Given the description of an element on the screen output the (x, y) to click on. 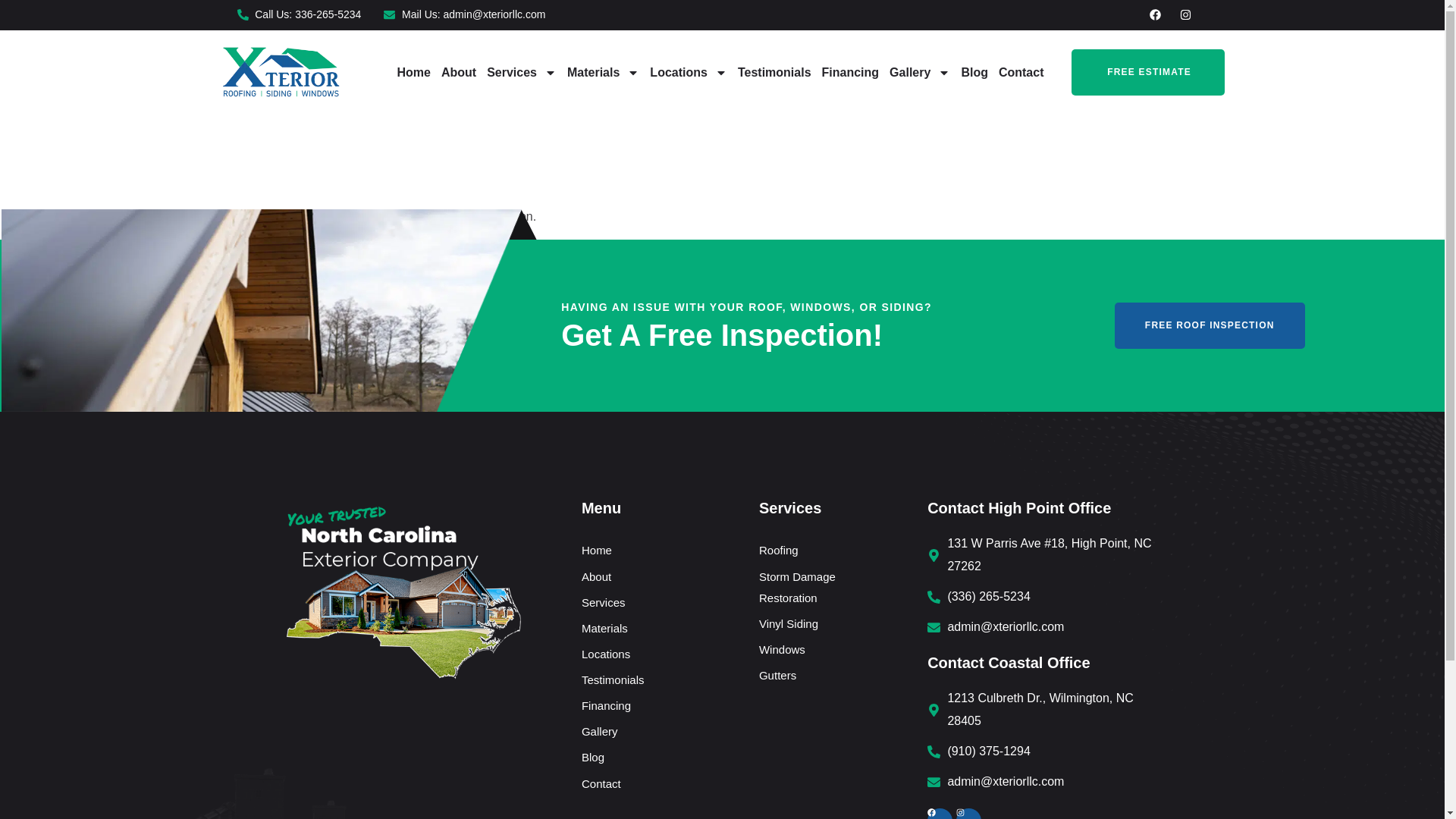
Materials (603, 72)
About (458, 72)
Call Us: 336-265-5234 (298, 14)
Services (521, 72)
Home (413, 72)
